Given the description of an element on the screen output the (x, y) to click on. 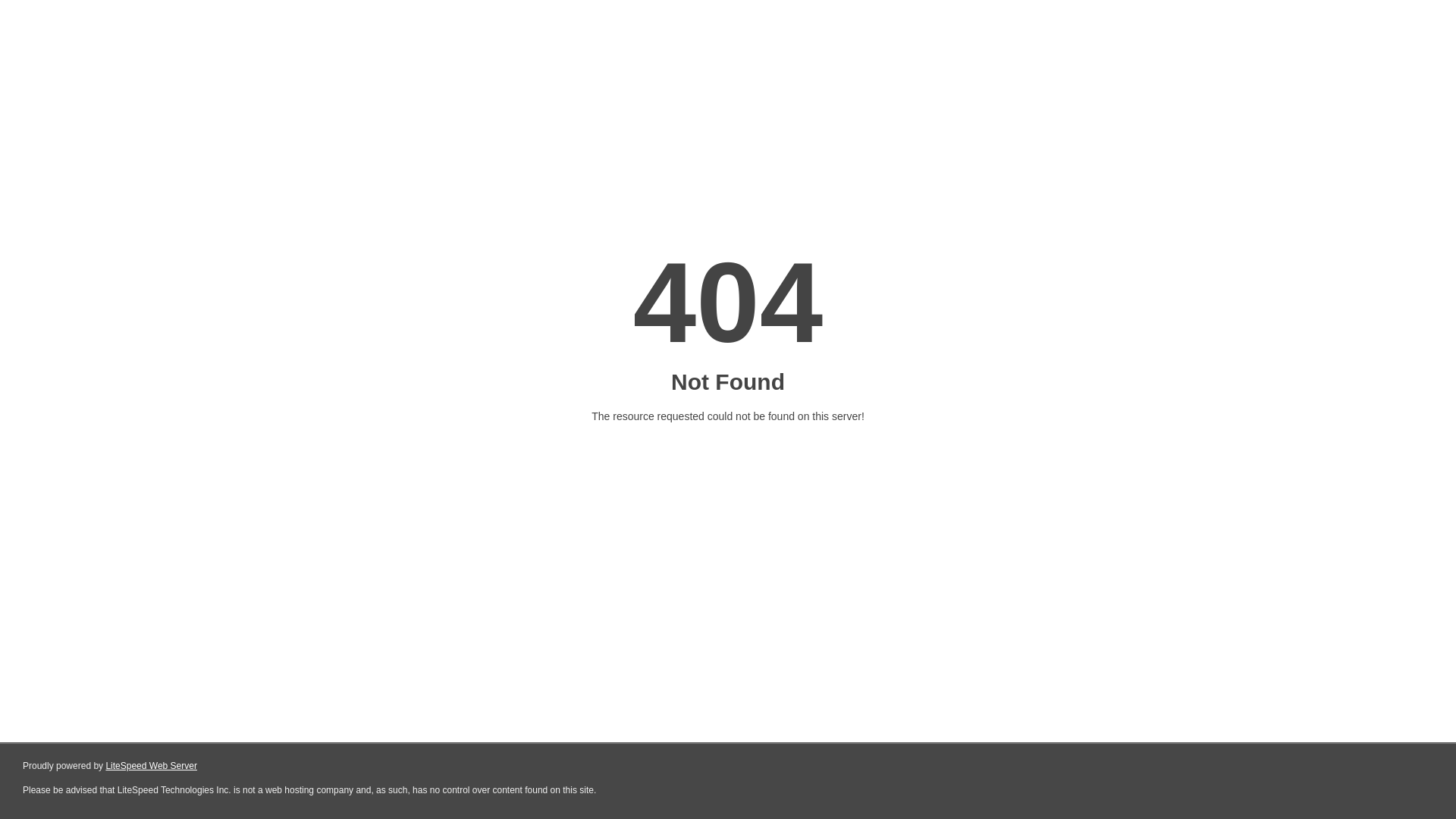
LiteSpeed Web Server Element type: text (151, 765)
